Given the description of an element on the screen output the (x, y) to click on. 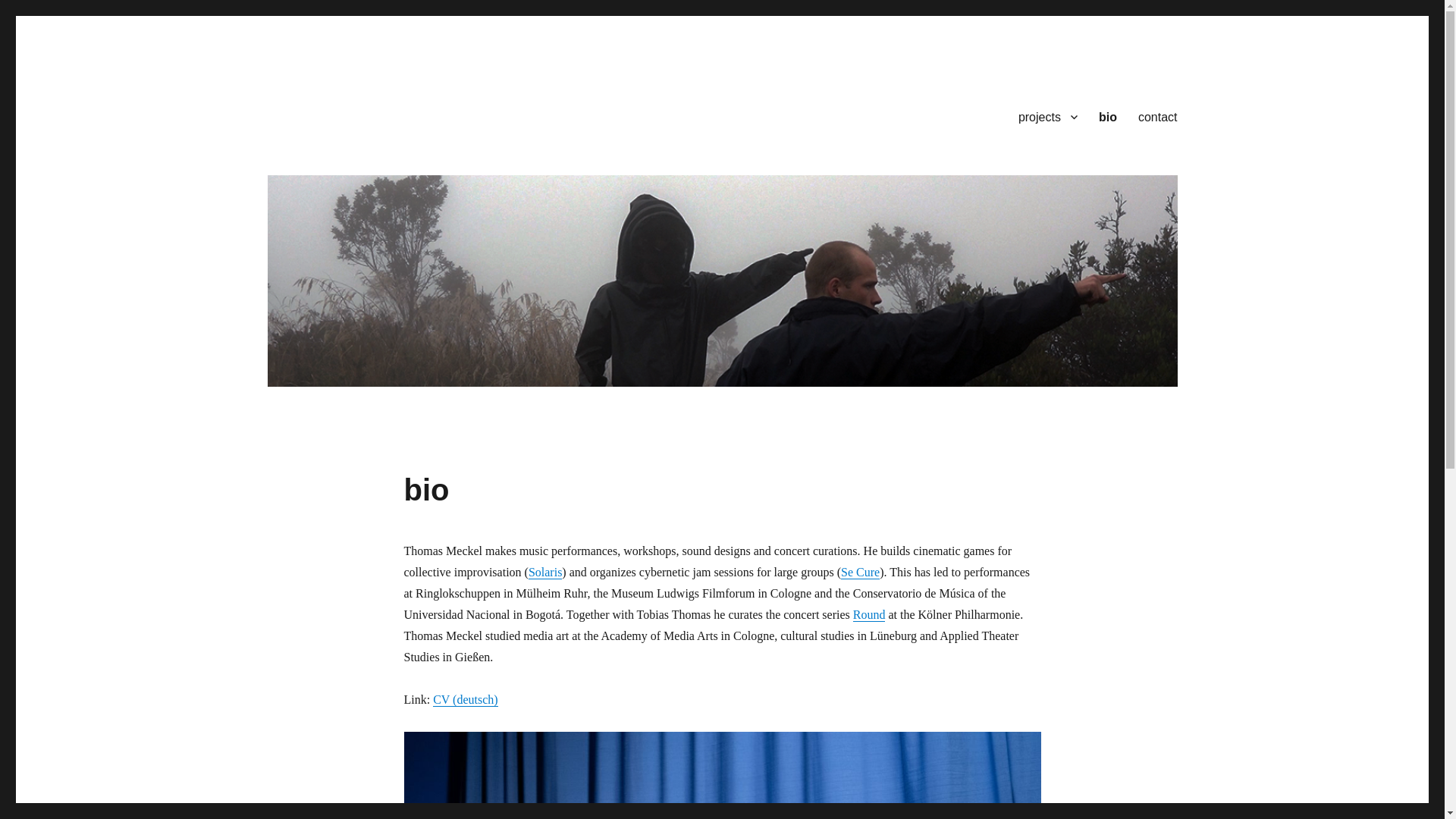
bio (1106, 116)
projects (1047, 116)
contact (1157, 116)
Thomas Meckel (345, 114)
Round (869, 614)
Se Cure (860, 571)
Solaris (545, 571)
